Given the description of an element on the screen output the (x, y) to click on. 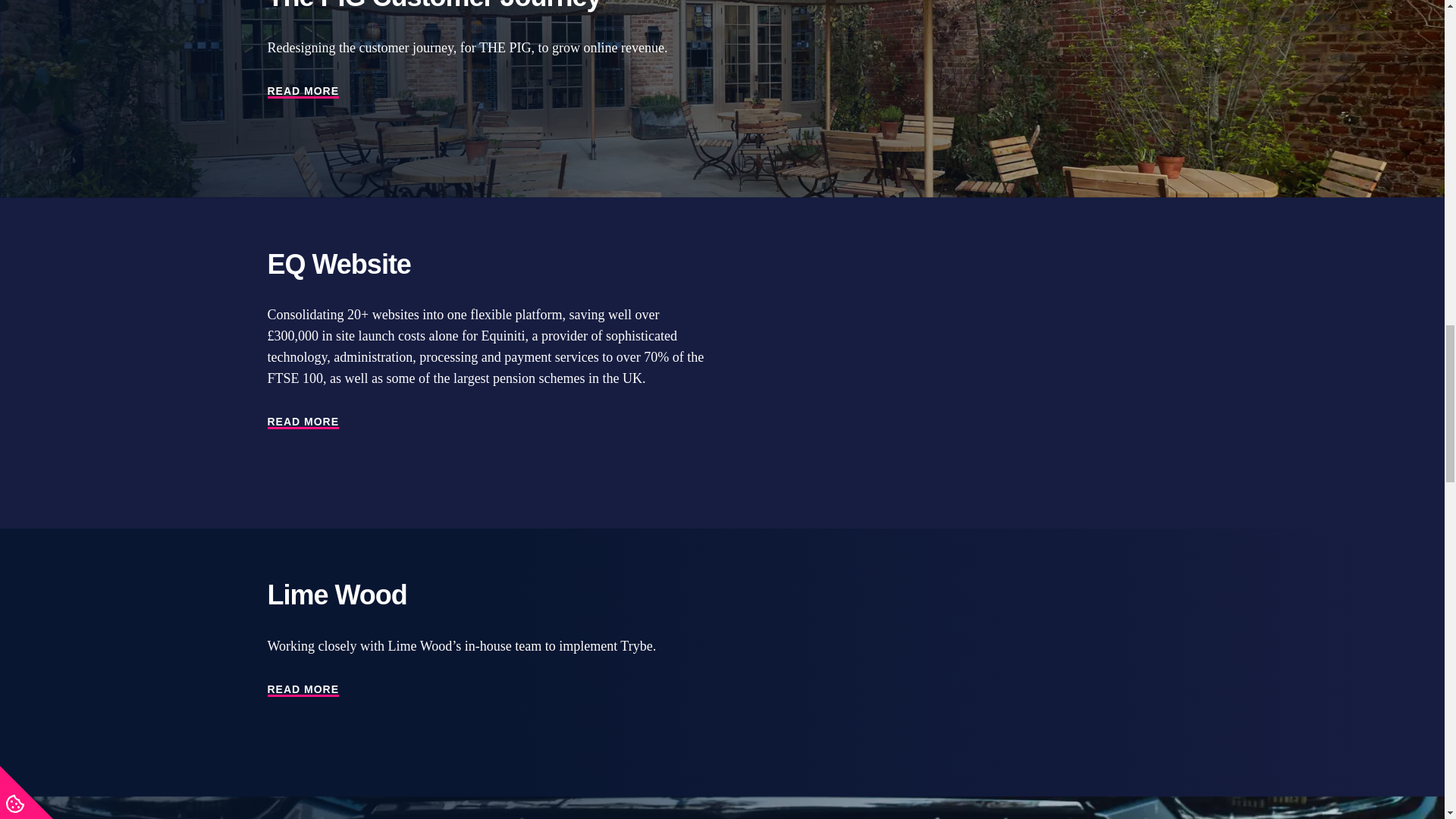
READ MORE (302, 422)
READ MORE (302, 91)
READ MORE (302, 689)
